Given the description of an element on the screen output the (x, y) to click on. 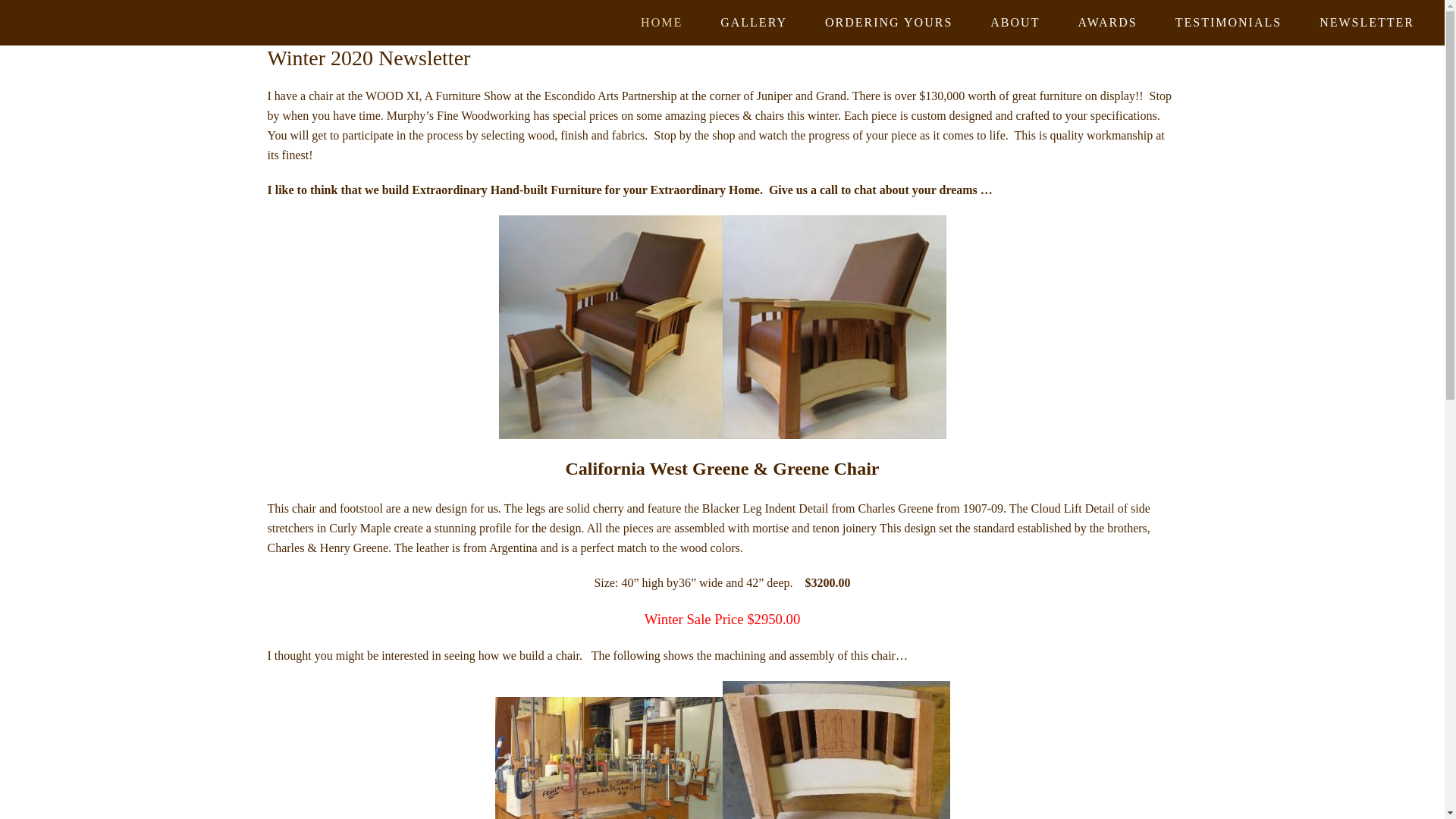
ABOUT (1014, 22)
HOME (661, 22)
AWARDS (1107, 22)
NEWSLETTER (1366, 22)
GALLERY (753, 22)
ORDERING YOURS (888, 22)
TESTIMONIALS (1227, 22)
WOOD XI, A Furniture Show (438, 95)
